Given the description of an element on the screen output the (x, y) to click on. 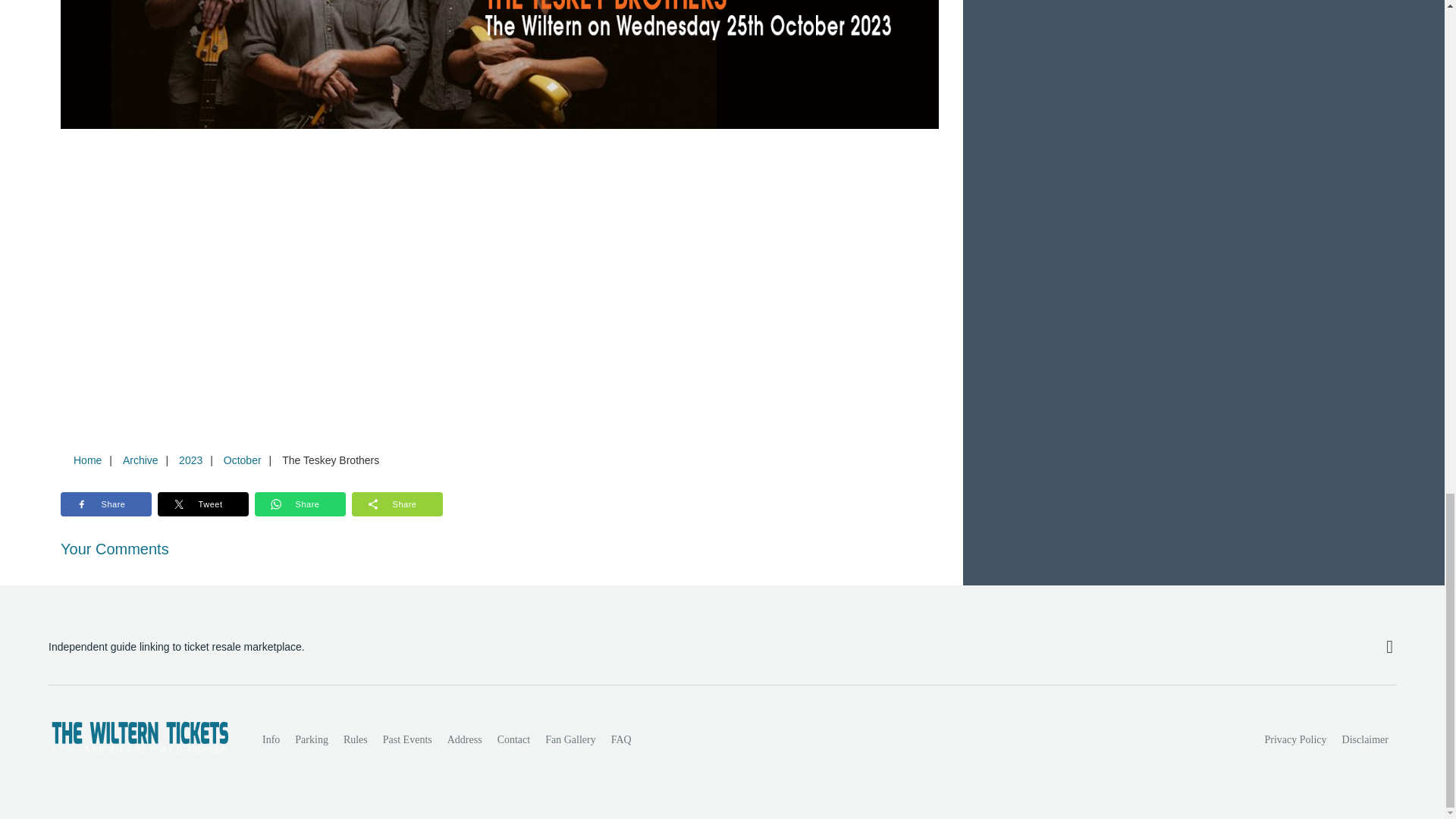
Disclaimer (1365, 739)
Fan Gallery (569, 739)
Archive (140, 459)
Home (87, 459)
Parking (311, 739)
Address (464, 739)
Past Events (407, 739)
October (242, 459)
Contact (513, 739)
Rules (355, 739)
The Teskey Brothers at The Wiltern tickets (500, 63)
Info (270, 739)
2023 (190, 459)
FAQ (621, 739)
Privacy Policy (1296, 739)
